Given the description of an element on the screen output the (x, y) to click on. 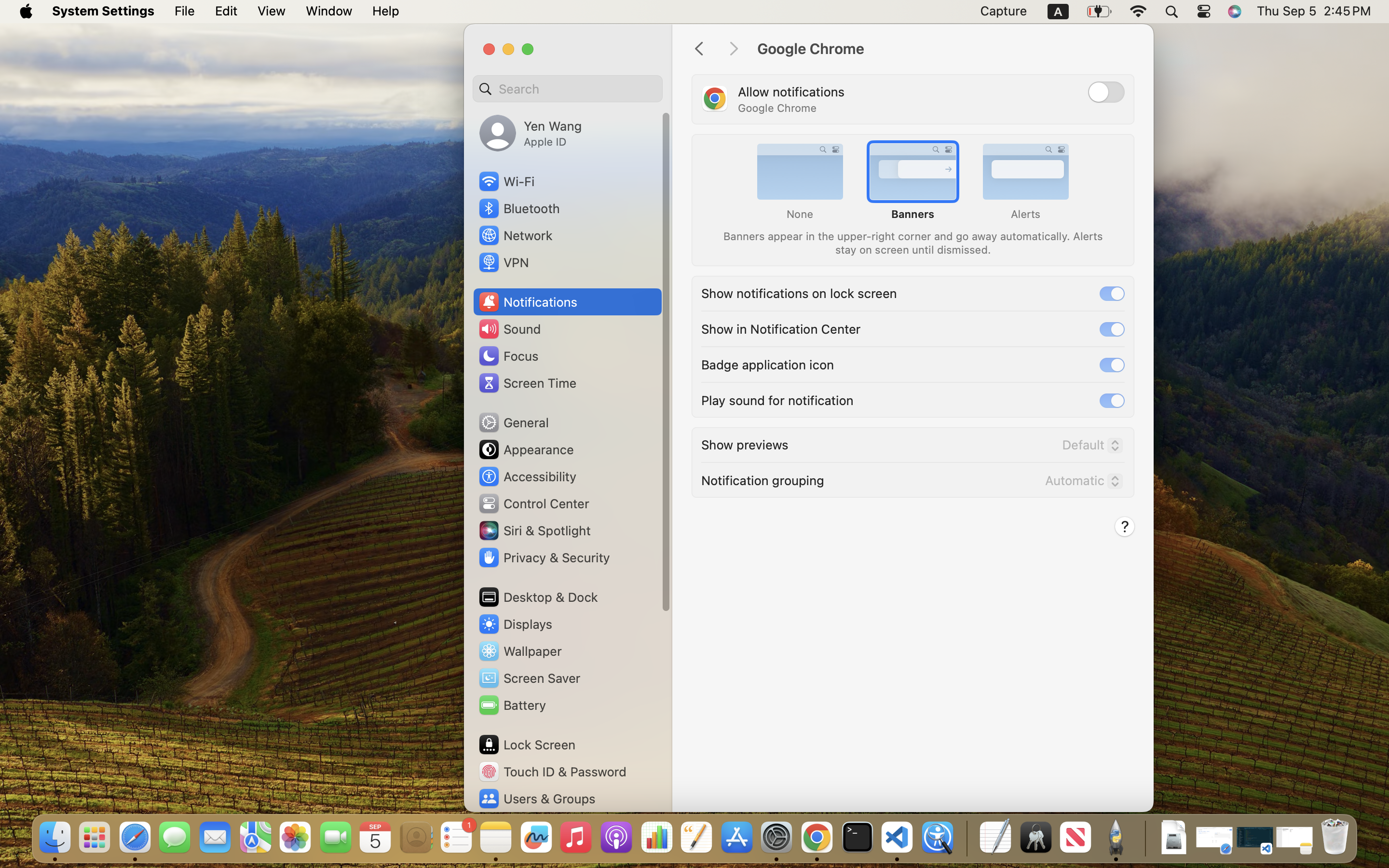
Users & Groups Element type: AXStaticText (536, 798)
Battery Element type: AXStaticText (511, 704)
